Given the description of an element on the screen output the (x, y) to click on. 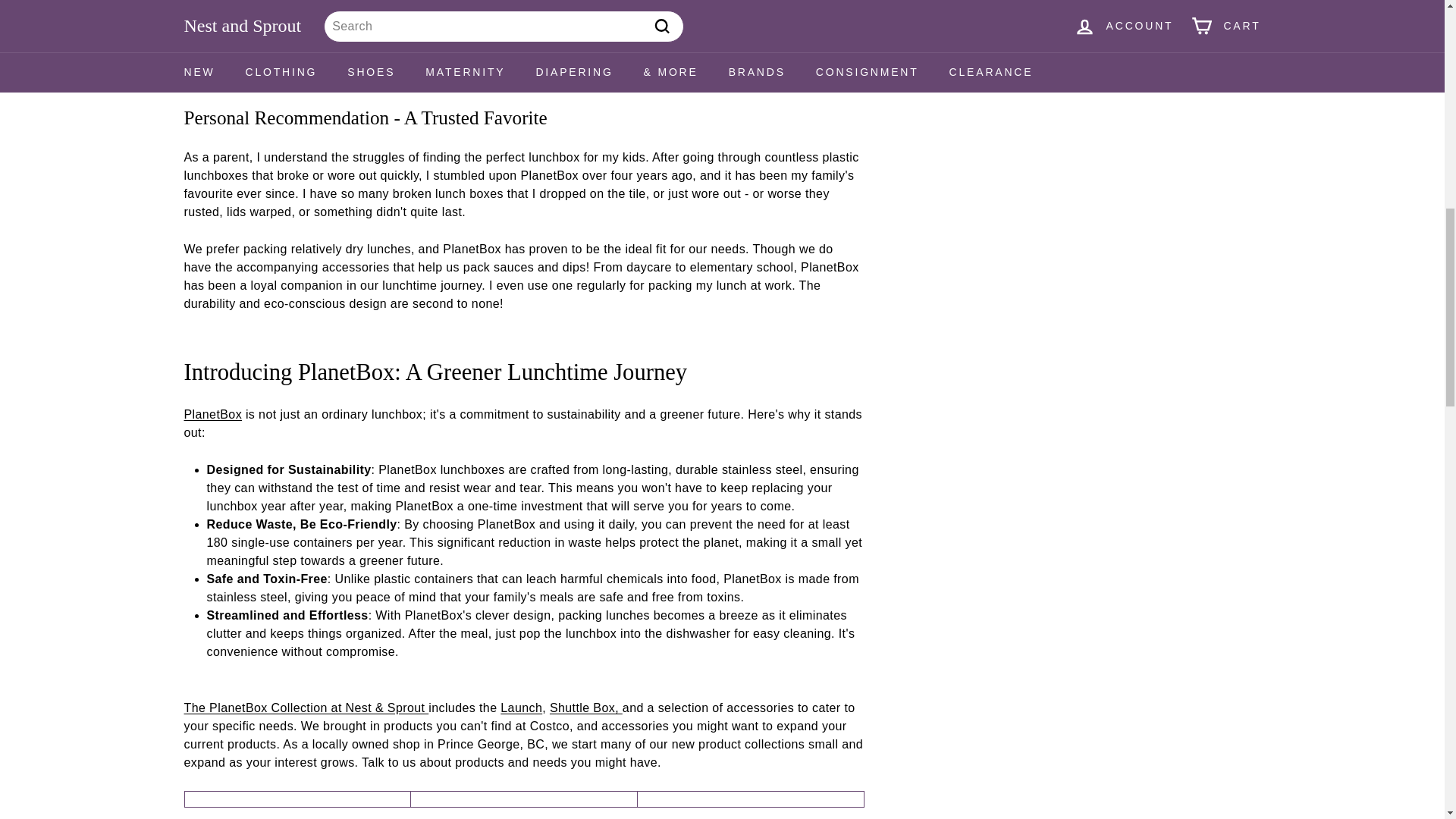
Shop Planetbox in Canada (212, 413)
Learn more about Planetbox (212, 2)
Shop Planetbox in Canada (305, 707)
